Given the description of an element on the screen output the (x, y) to click on. 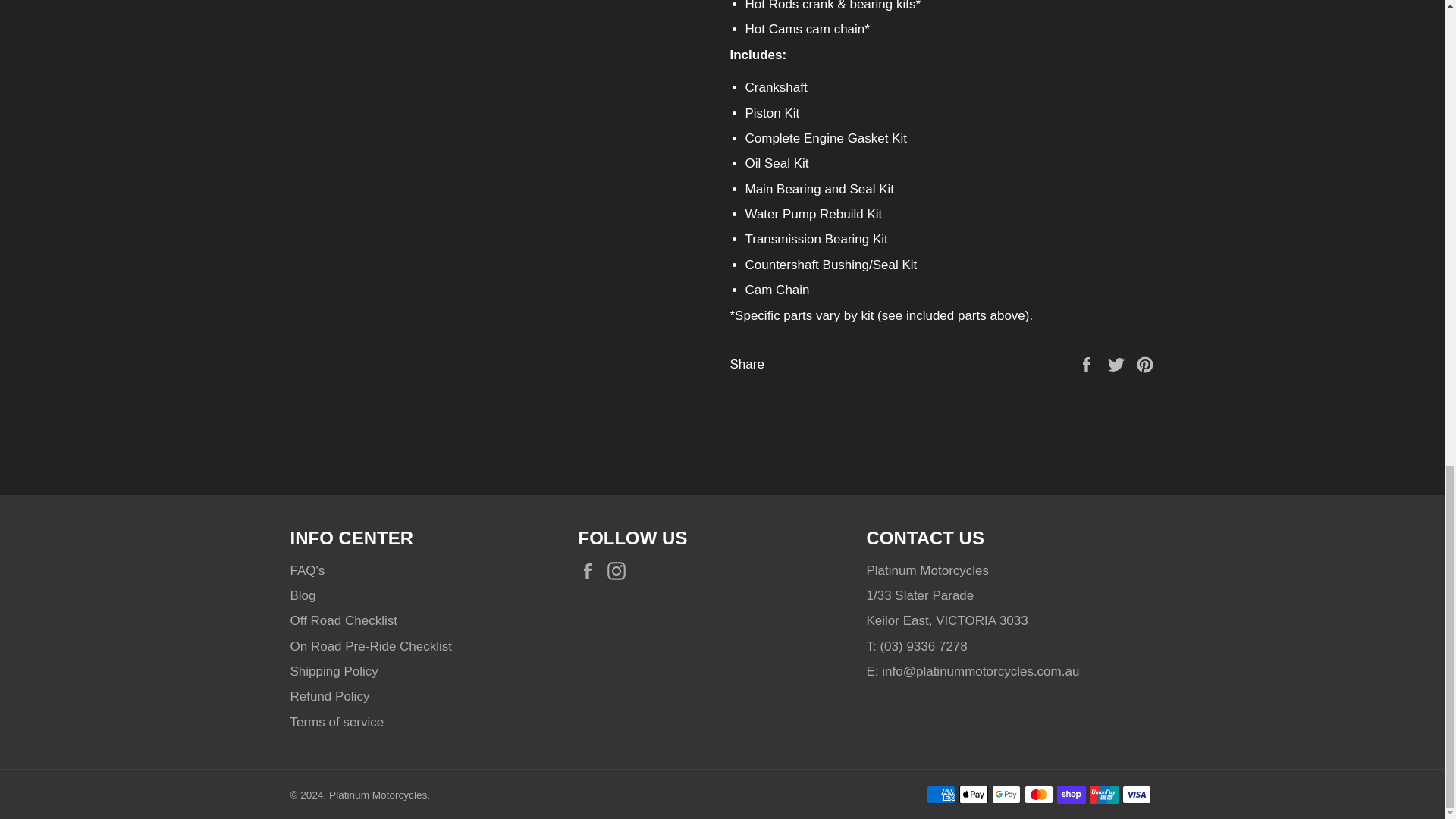
Pin on Pinterest (1144, 364)
Platinum Motorcycles on Instagram (620, 570)
Platinum Motorcycles on Facebook (591, 570)
Tweet on Twitter (1117, 364)
Share on Facebook (1088, 364)
